Given the description of an element on the screen output the (x, y) to click on. 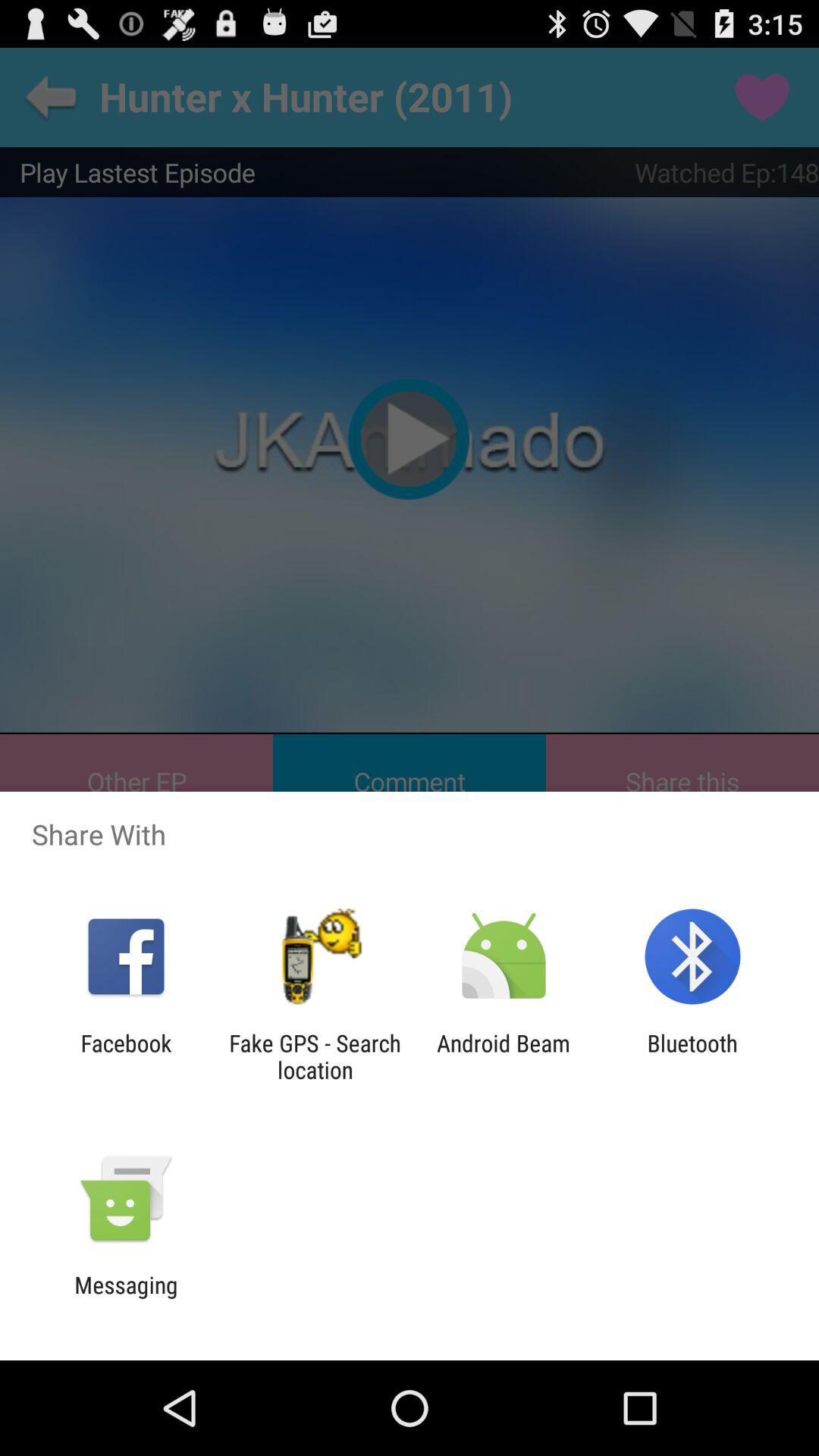
turn on the icon to the right of the facebook app (314, 1056)
